Given the description of an element on the screen output the (x, y) to click on. 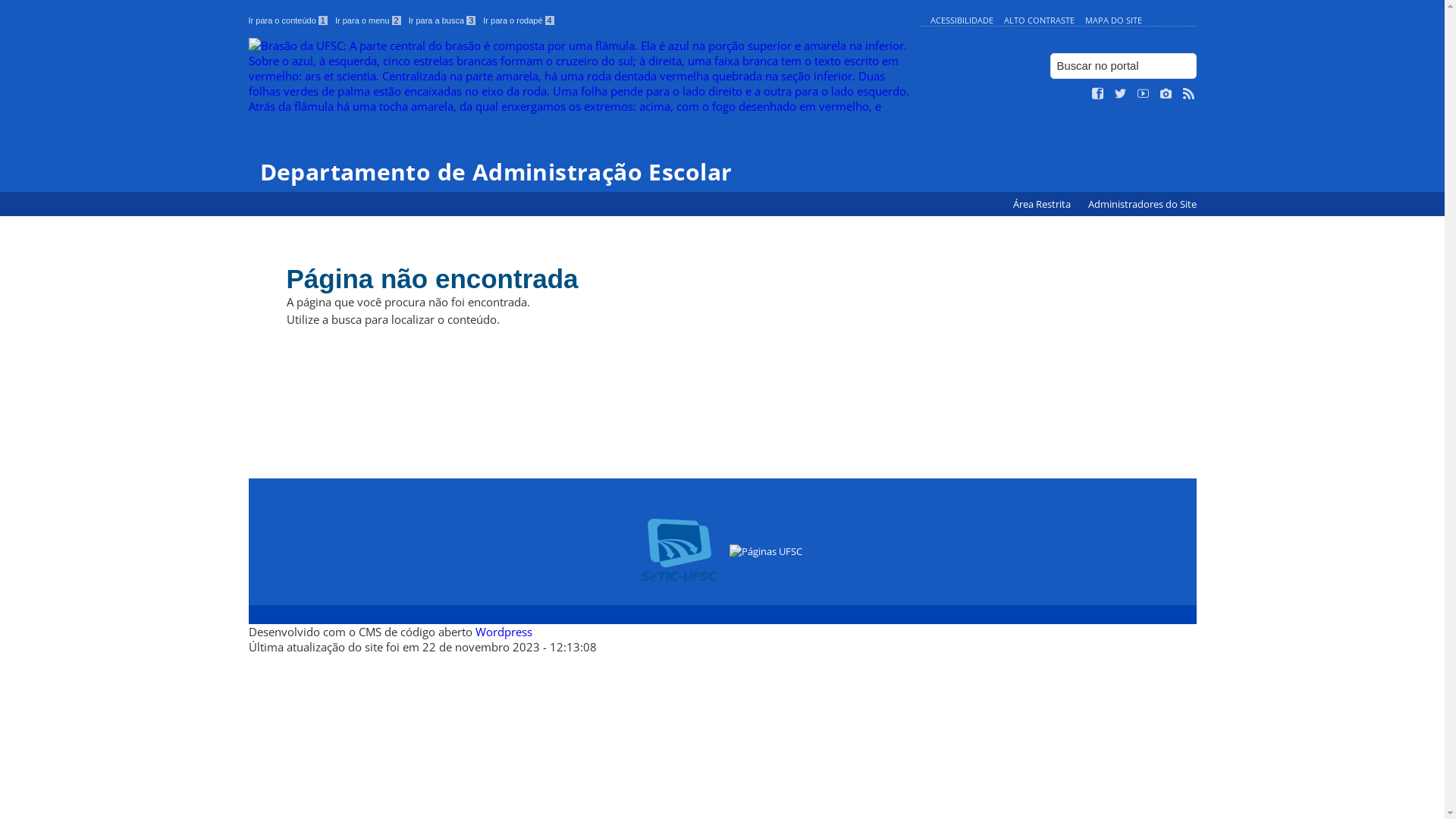
ALTO CONTRASTE Element type: text (1039, 19)
MAPA DO SITE Element type: text (1112, 19)
Ir para o menu 2 Element type: text (368, 20)
Ir para a busca 3 Element type: text (442, 20)
Siga no Twitter Element type: hover (1120, 93)
Administradores do Site Element type: text (1141, 203)
Curta no Facebook Element type: hover (1098, 93)
ACESSIBILIDADE Element type: text (960, 19)
Veja no Instagram Element type: hover (1166, 93)
Wordpress Element type: text (502, 631)
